Given the description of an element on the screen output the (x, y) to click on. 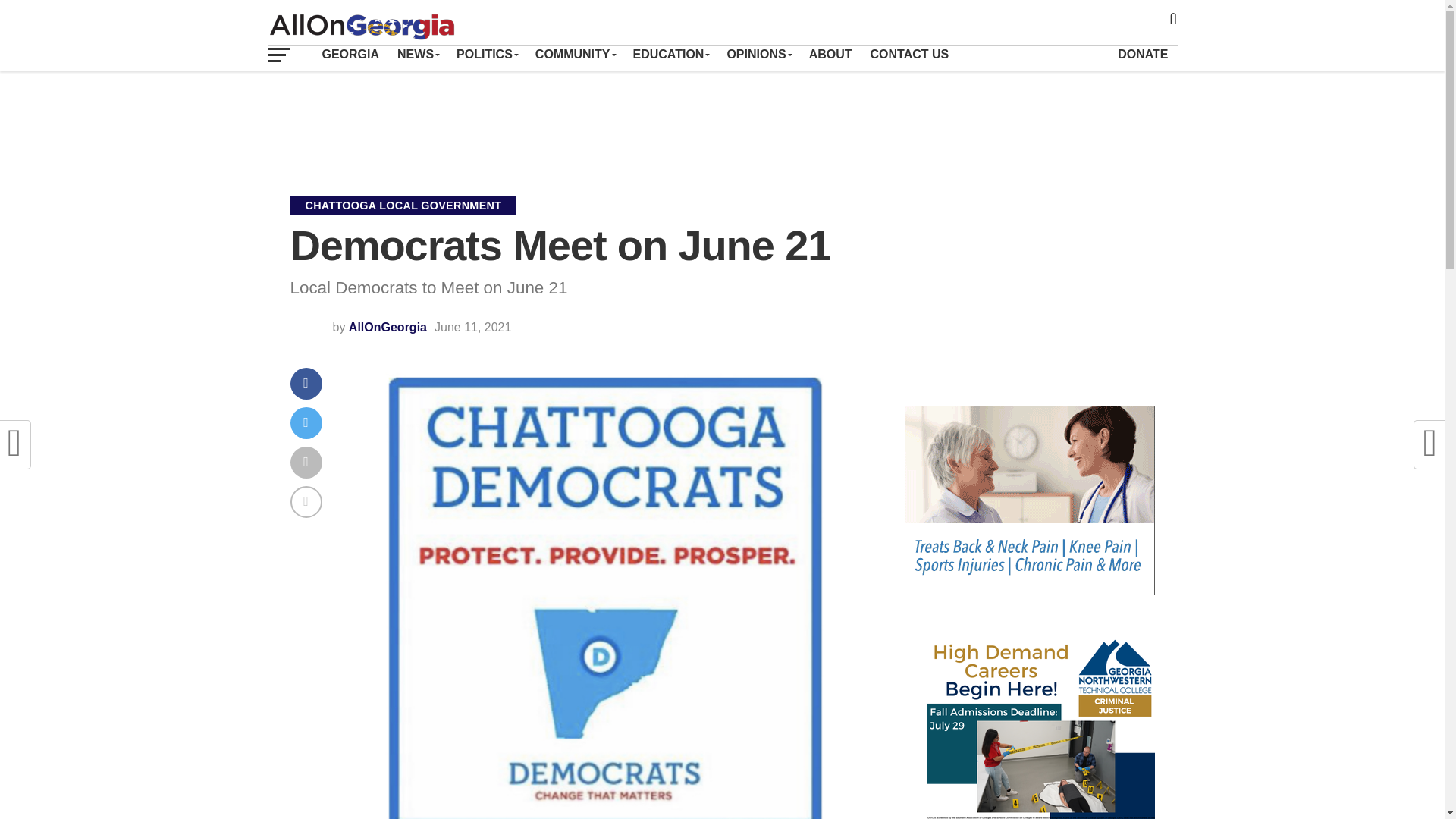
COMMUNITY (574, 54)
GEORGIA (350, 54)
Posts by AllOnGeorgia (387, 327)
POLITICS (485, 54)
NEWS (417, 54)
